Given the description of an element on the screen output the (x, y) to click on. 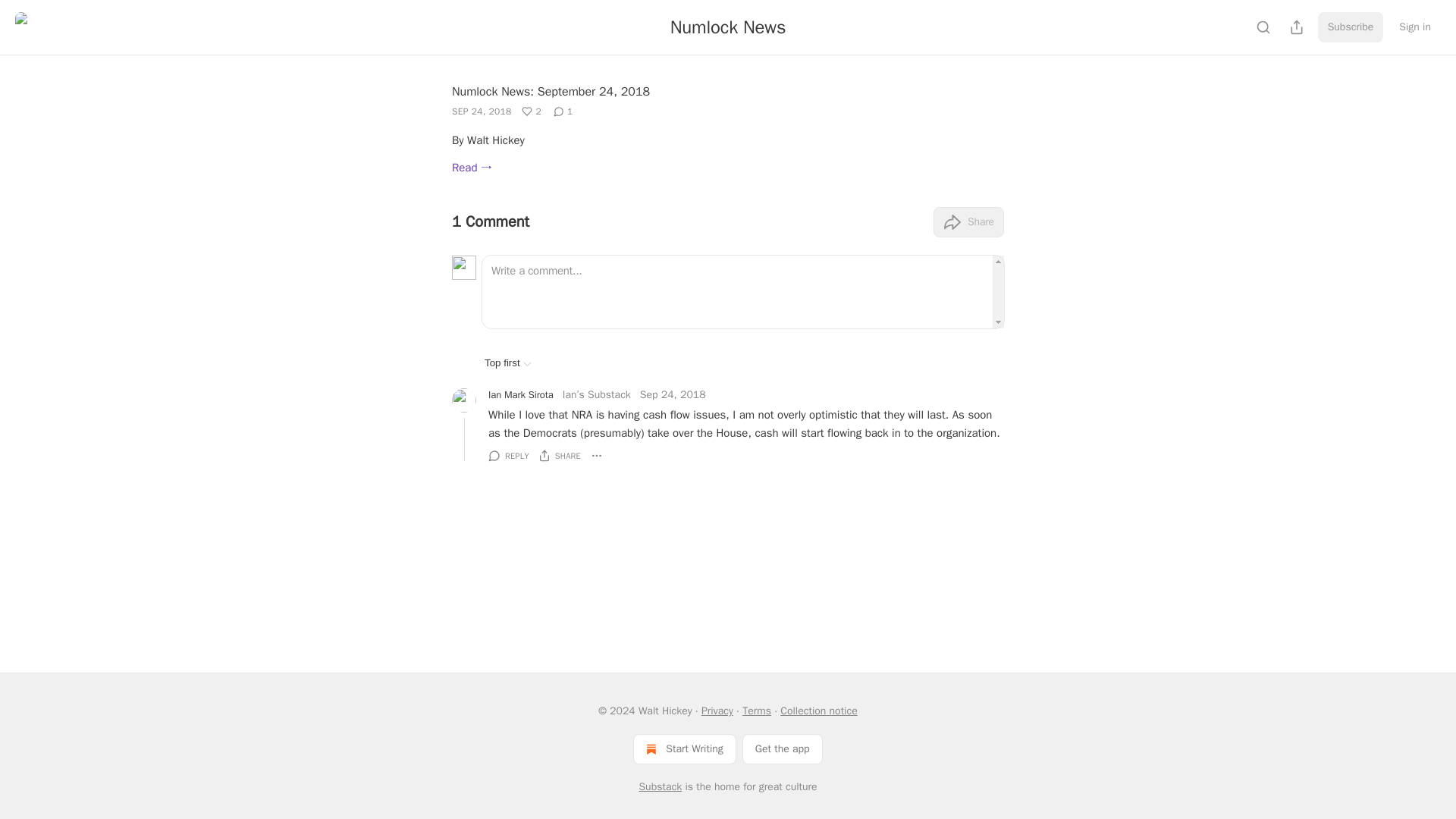
Numlock News: September 24, 2018 (550, 91)
Get the app (782, 748)
1 (563, 111)
SHARE (559, 455)
Collection notice (818, 710)
Sign in (1415, 27)
Share (968, 222)
REPLY (508, 455)
Numlock News (727, 26)
Terms (756, 710)
